Given the description of an element on the screen output the (x, y) to click on. 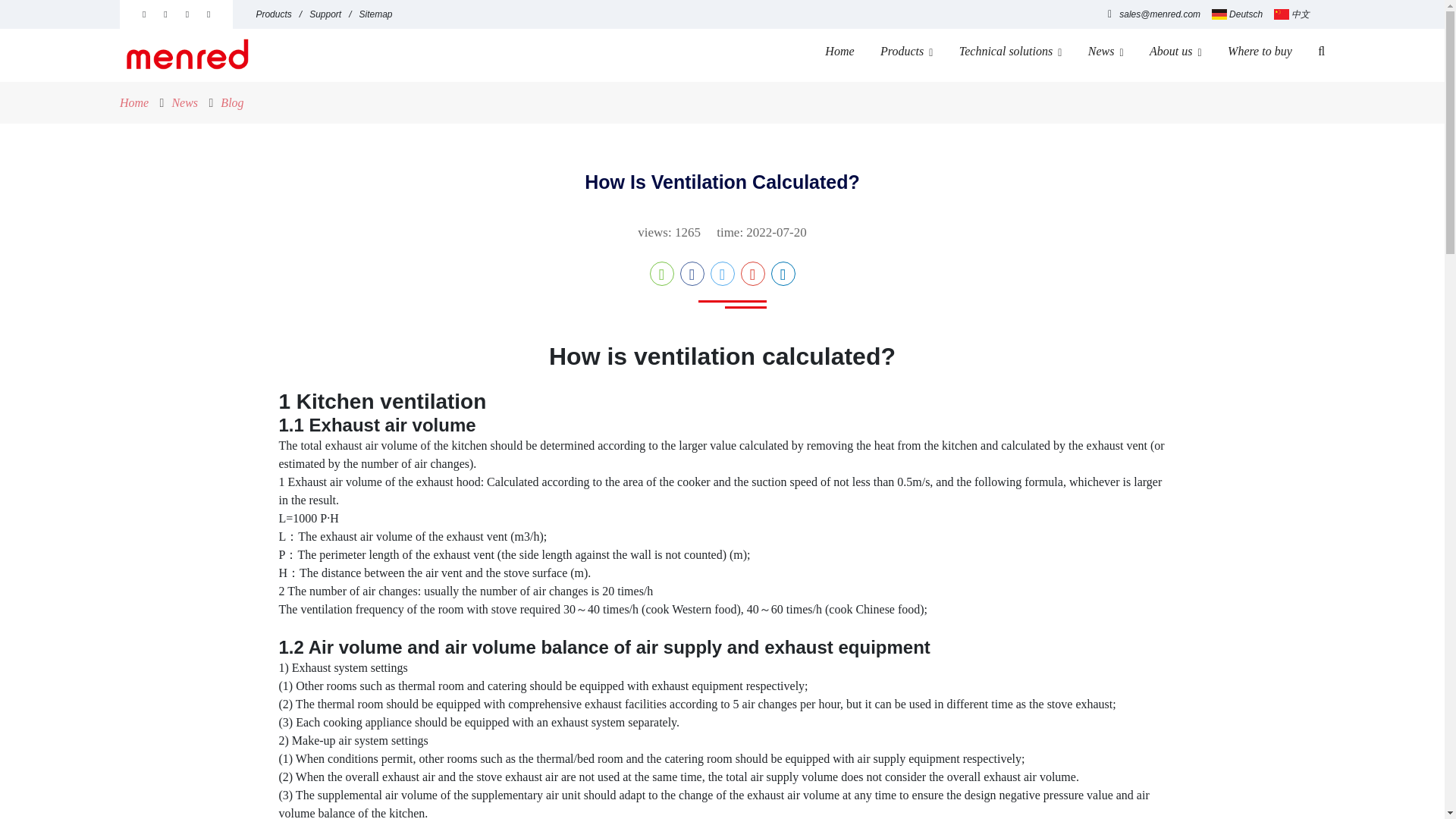
Sitemap (376, 14)
Deutsch (1236, 14)
Products (906, 51)
Support (333, 14)
News (184, 102)
Home (839, 51)
Products (282, 14)
